Given the description of an element on the screen output the (x, y) to click on. 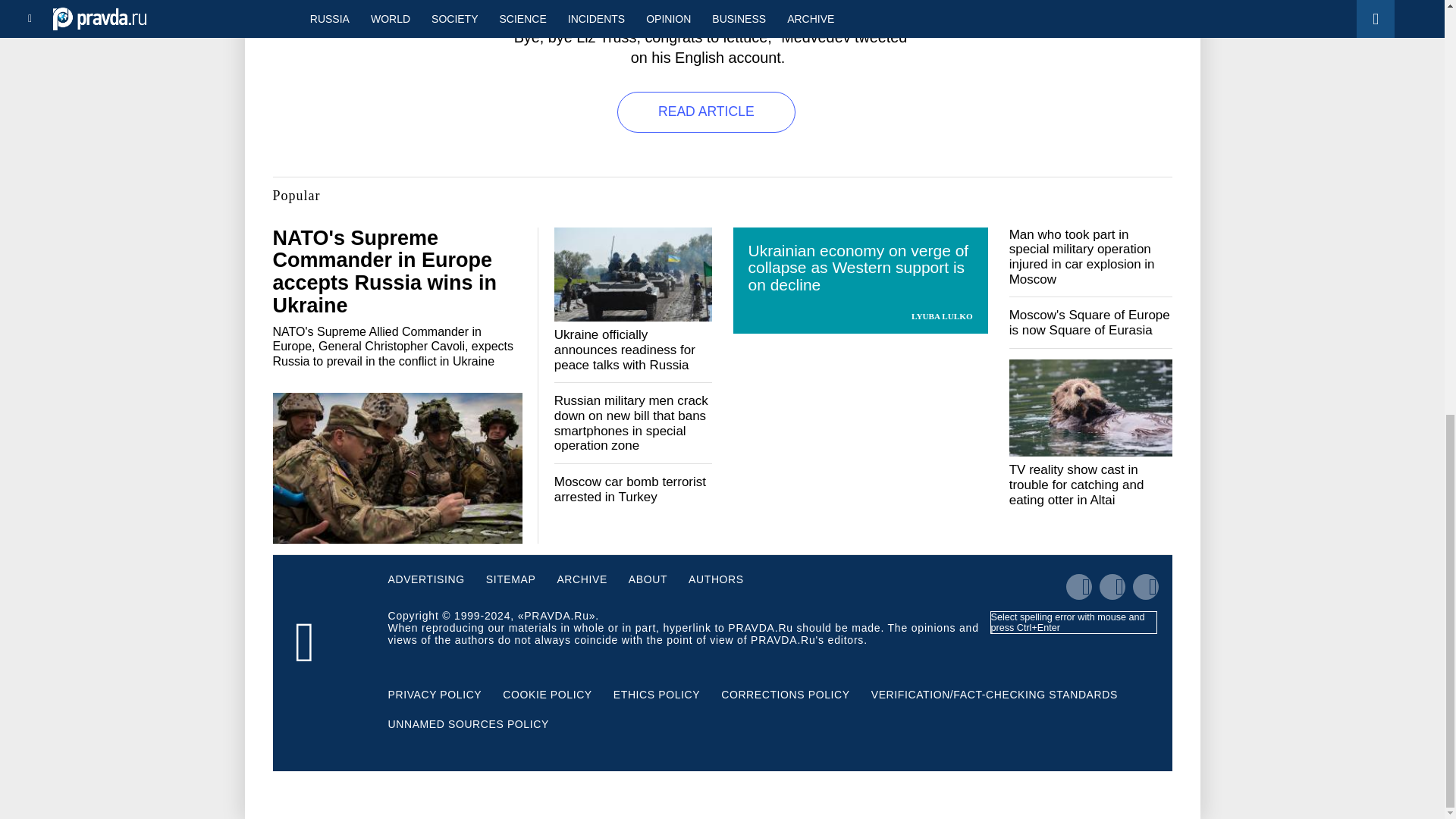
Back to top (1418, 57)
